Given the description of an element on the screen output the (x, y) to click on. 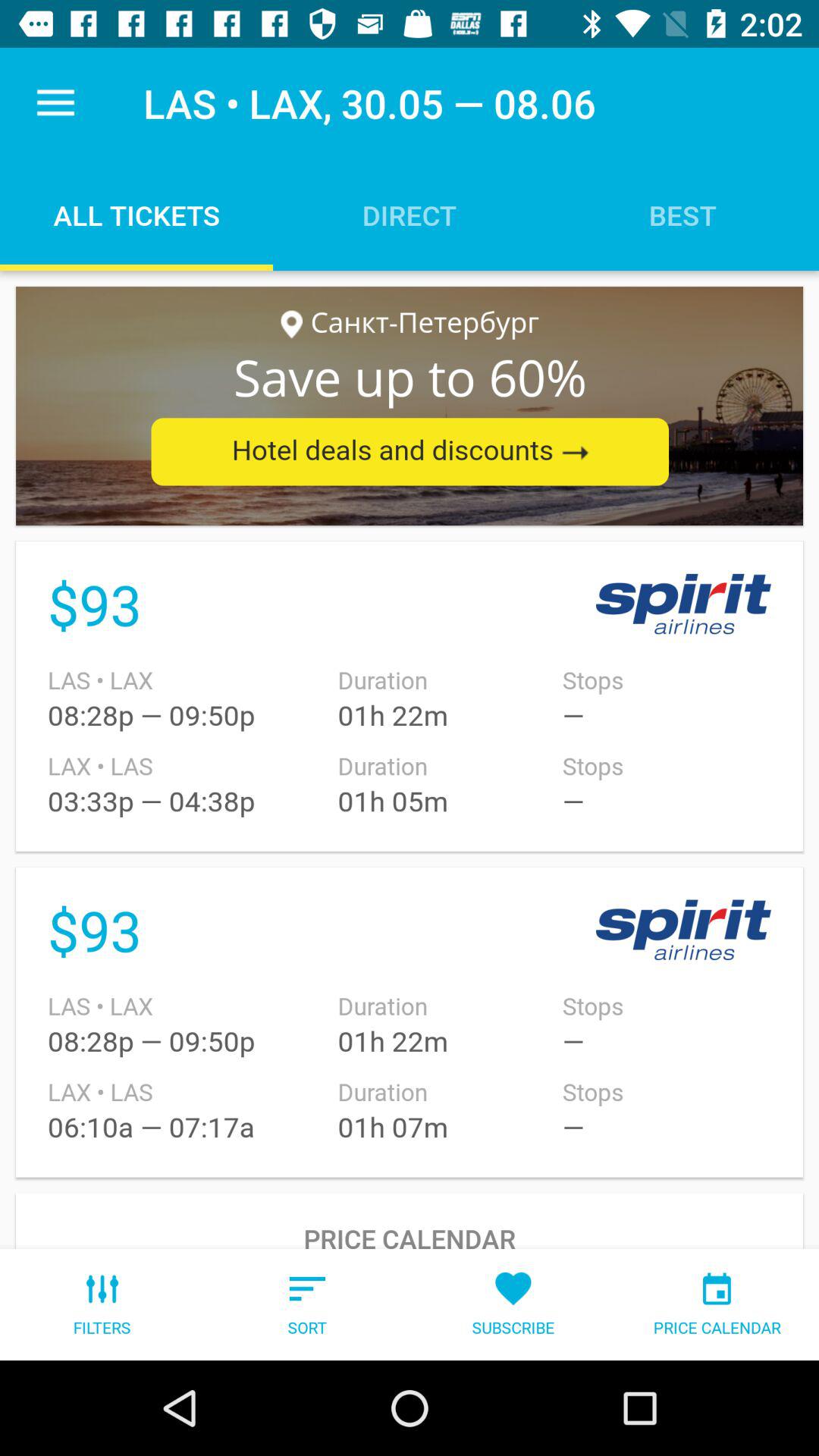
click to the advertisement (409, 405)
